Given the description of an element on the screen output the (x, y) to click on. 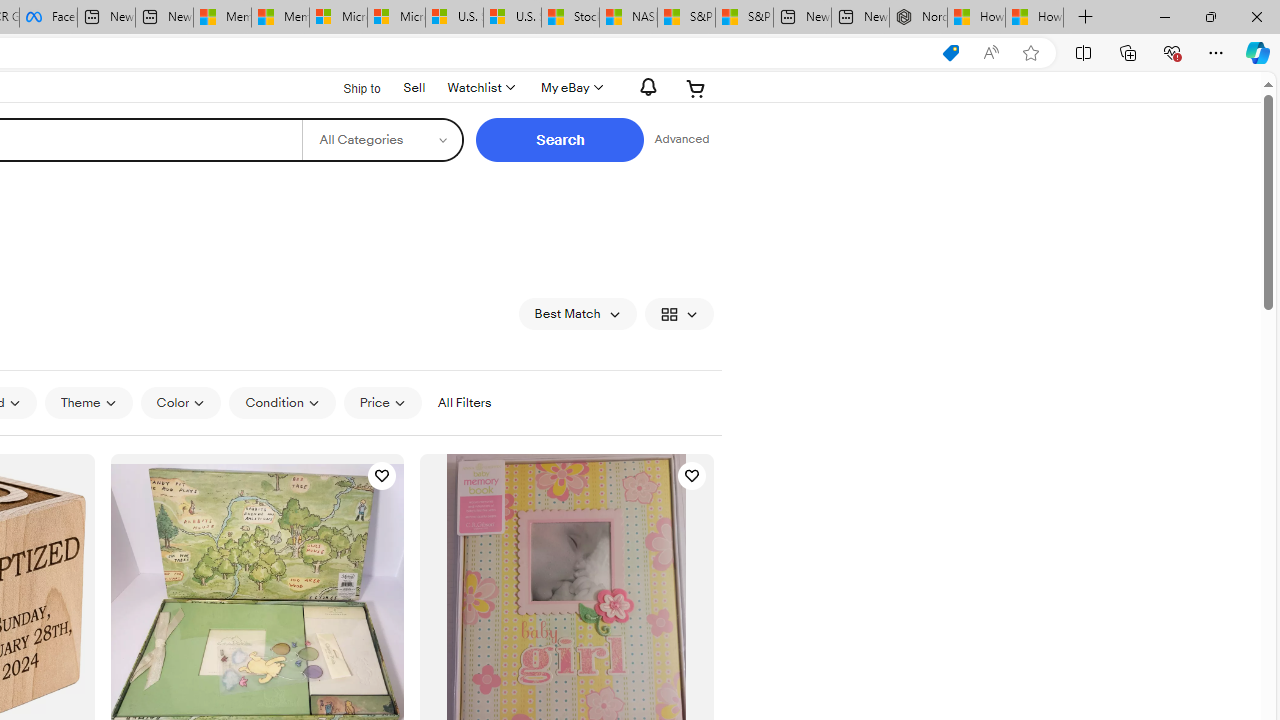
Minimize (1164, 16)
Select a category for search (382, 139)
Price (382, 402)
Sort: Best Match (577, 313)
Read aloud this page (Ctrl+Shift+U) (991, 53)
Add this page to favorites (Ctrl+D) (1030, 53)
Expand Cart (696, 88)
View: Gallery View (678, 313)
My eBayExpand My eBay (569, 88)
Color (180, 402)
Restore (1210, 16)
Close (1256, 16)
Split screen (1083, 52)
